Given the description of an element on the screen output the (x, y) to click on. 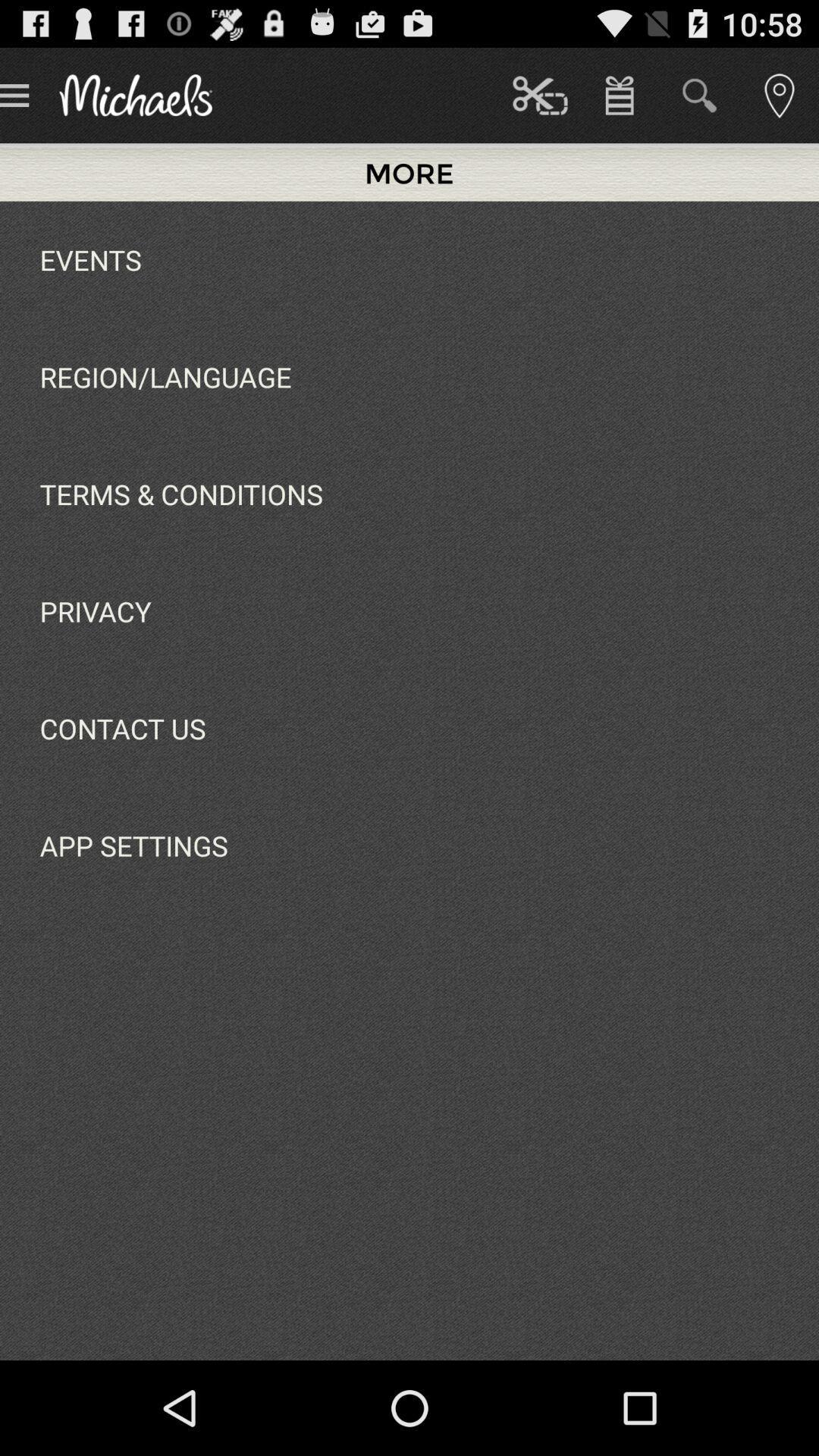
turn off terms & conditions app (181, 494)
